Given the description of an element on the screen output the (x, y) to click on. 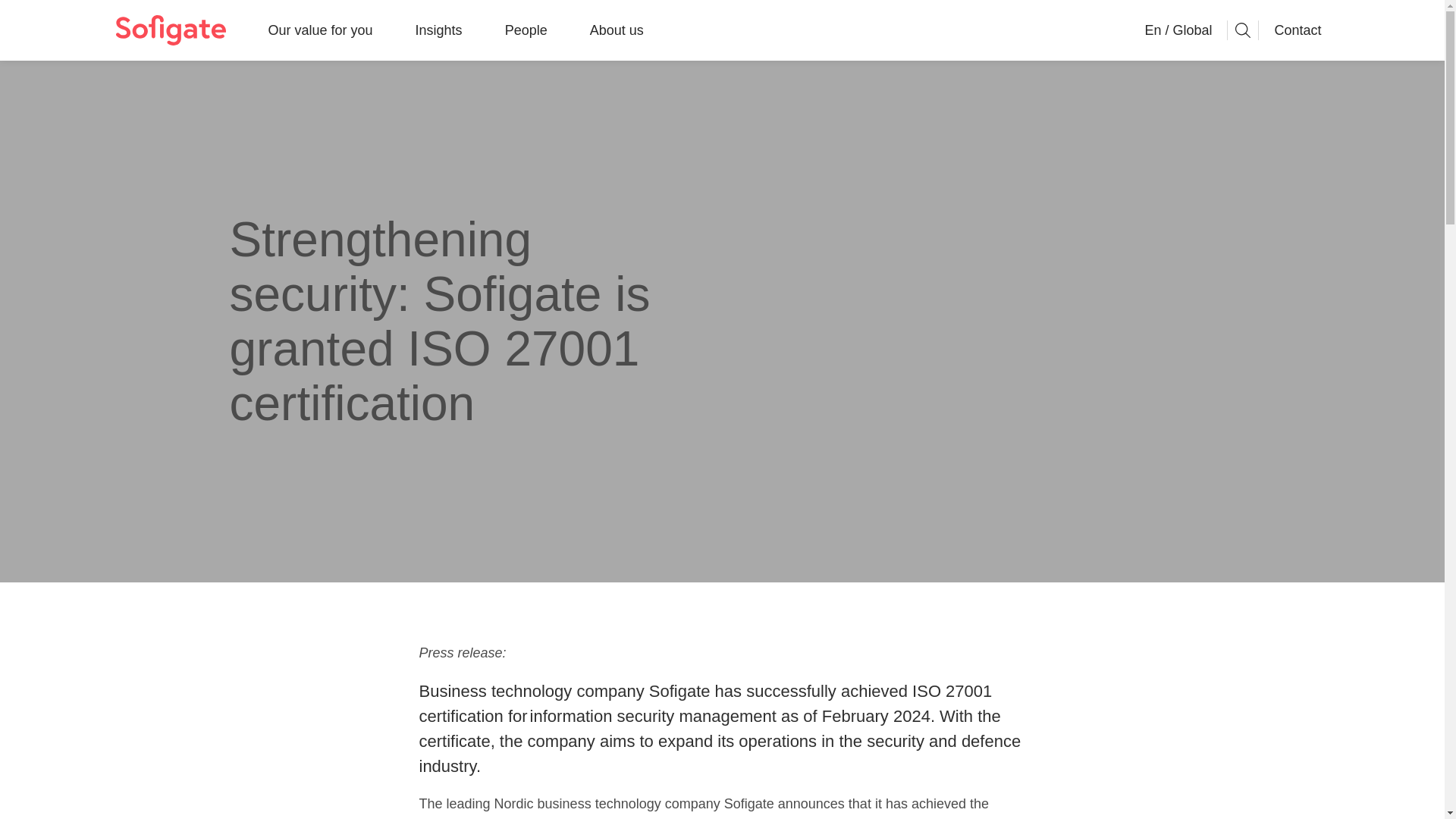
Sofigate (170, 30)
Insights (438, 29)
Contact (1297, 29)
People (526, 29)
About us (616, 29)
Our value for you (319, 29)
